Given the description of an element on the screen output the (x, y) to click on. 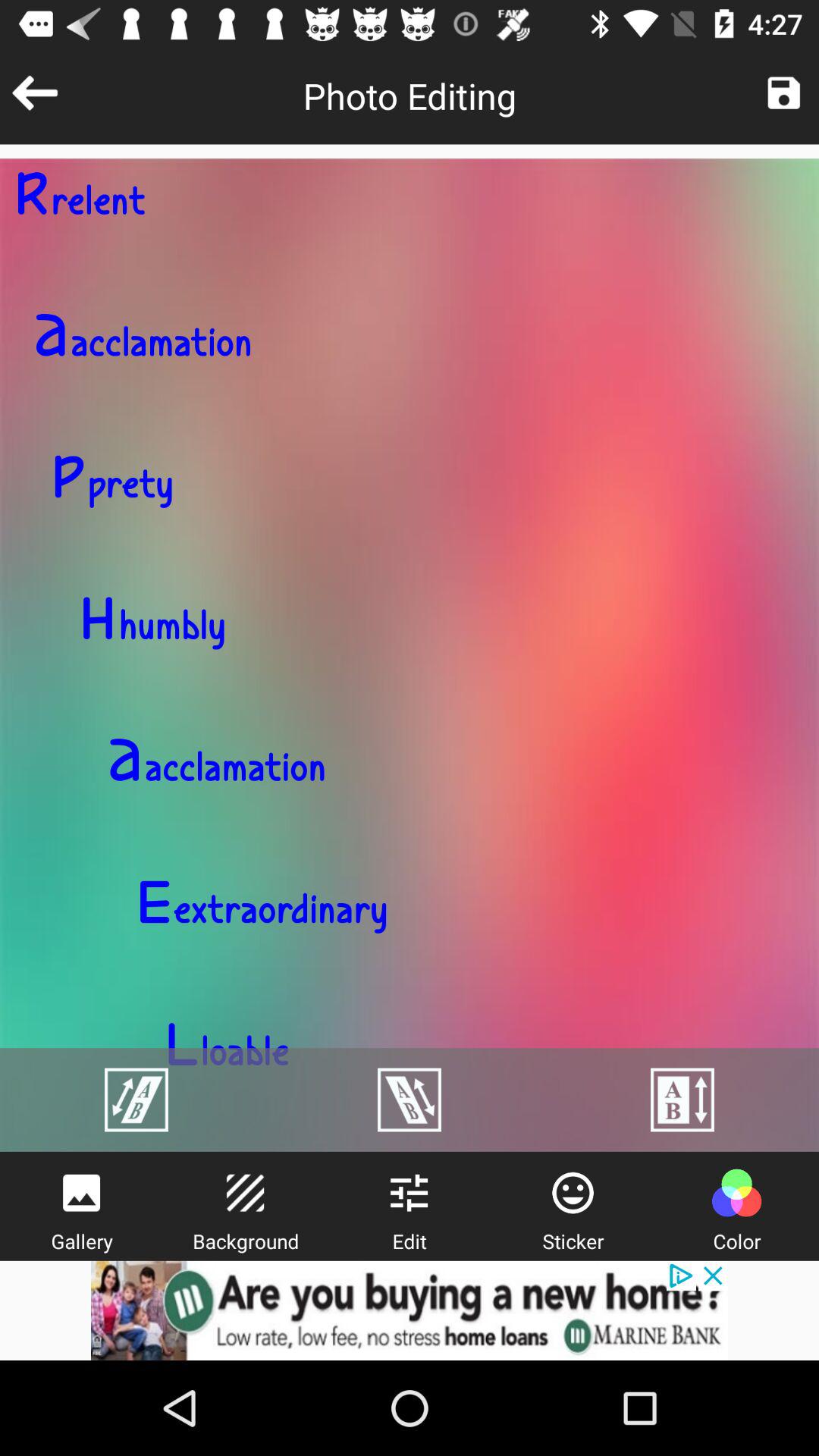
go to background (245, 1192)
